Given the description of an element on the screen output the (x, y) to click on. 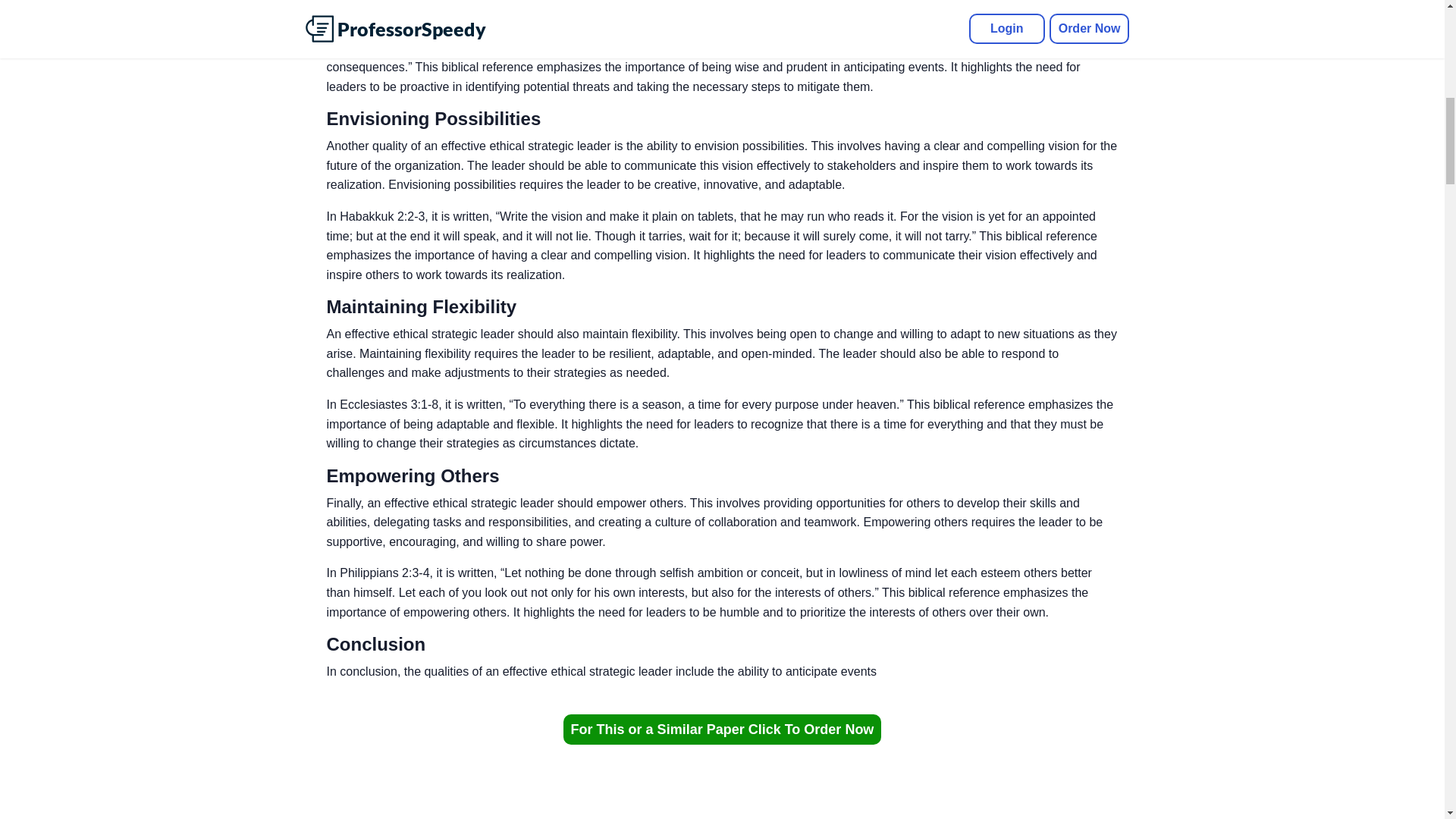
For This or a Similar Paper Click To Order Now (722, 729)
